Given the description of an element on the screen output the (x, y) to click on. 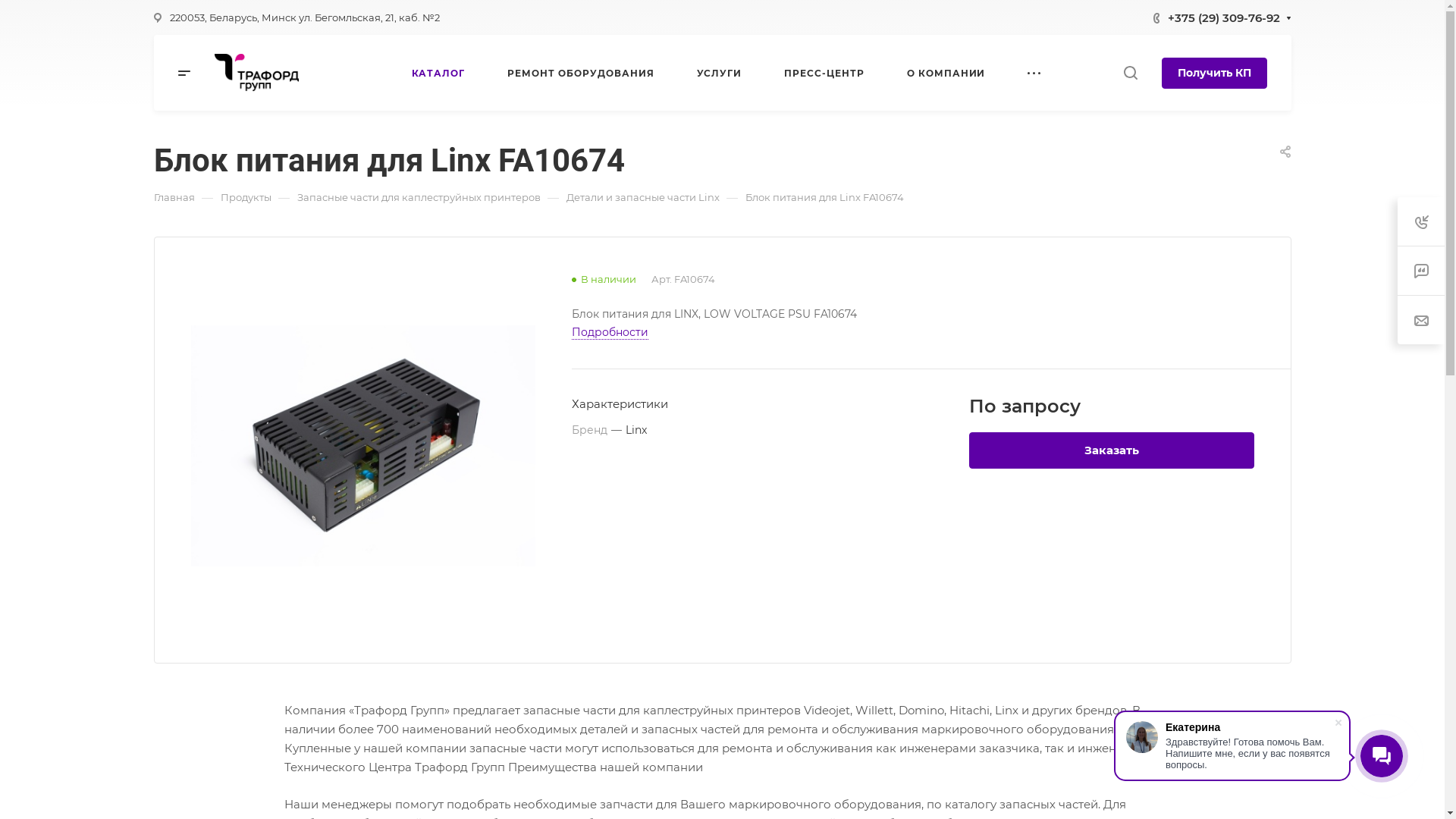
+375 (29) 309-76-92 Element type: text (1223, 16)
